Given the description of an element on the screen output the (x, y) to click on. 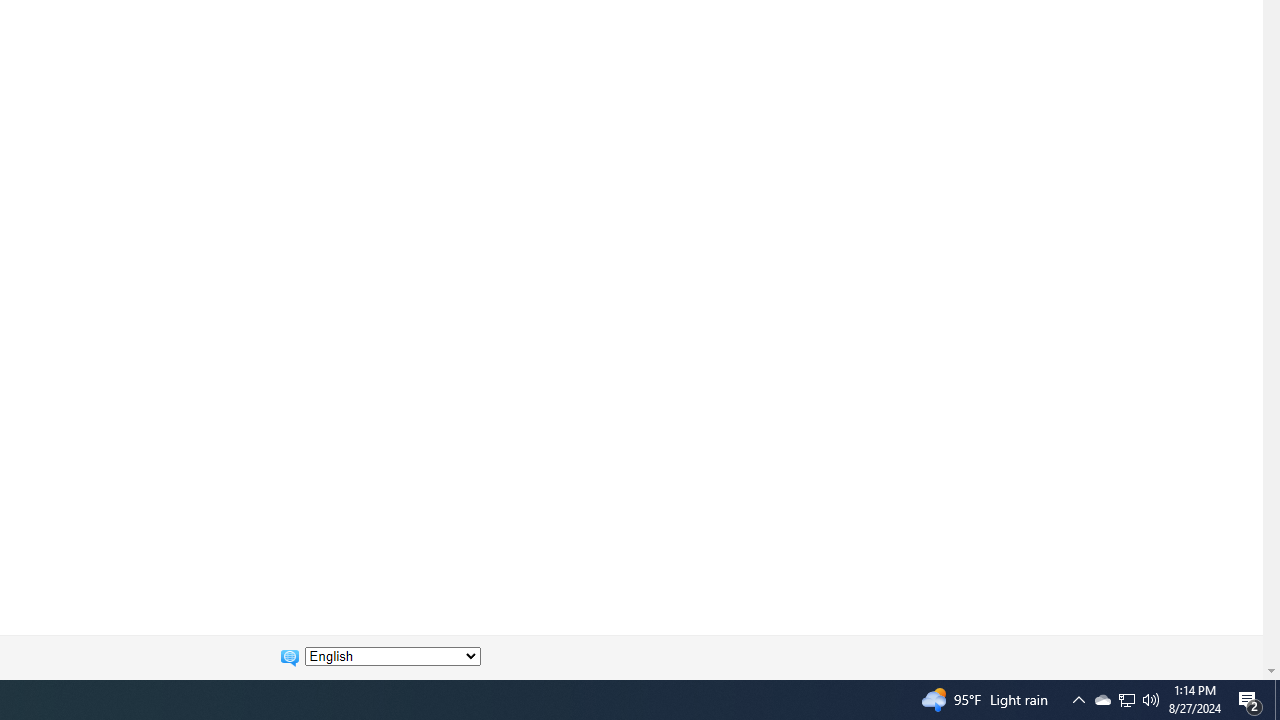
Change language: (392, 656)
